Given the description of an element on the screen output the (x, y) to click on. 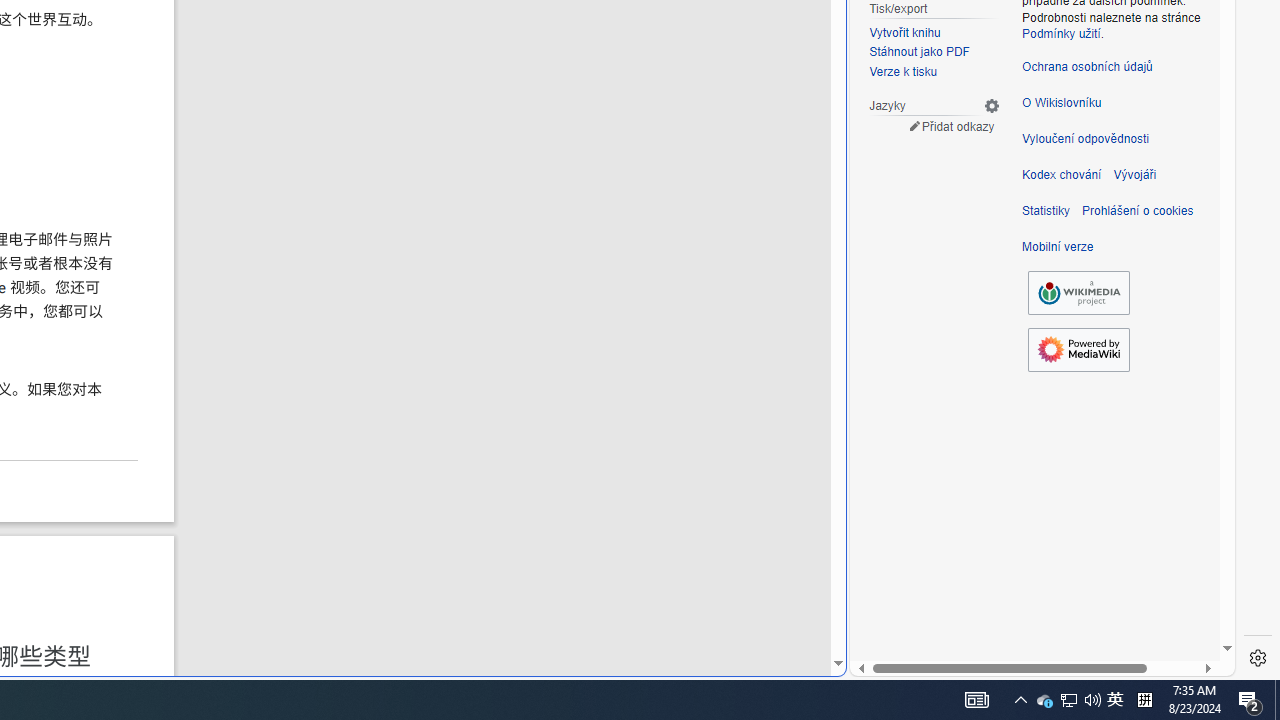
AutomationID: footer-copyrightico (1078, 292)
Verze k tisku (934, 71)
Powered by MediaWiki (1078, 349)
Wikimedia Foundation (1078, 292)
